Given the description of an element on the screen output the (x, y) to click on. 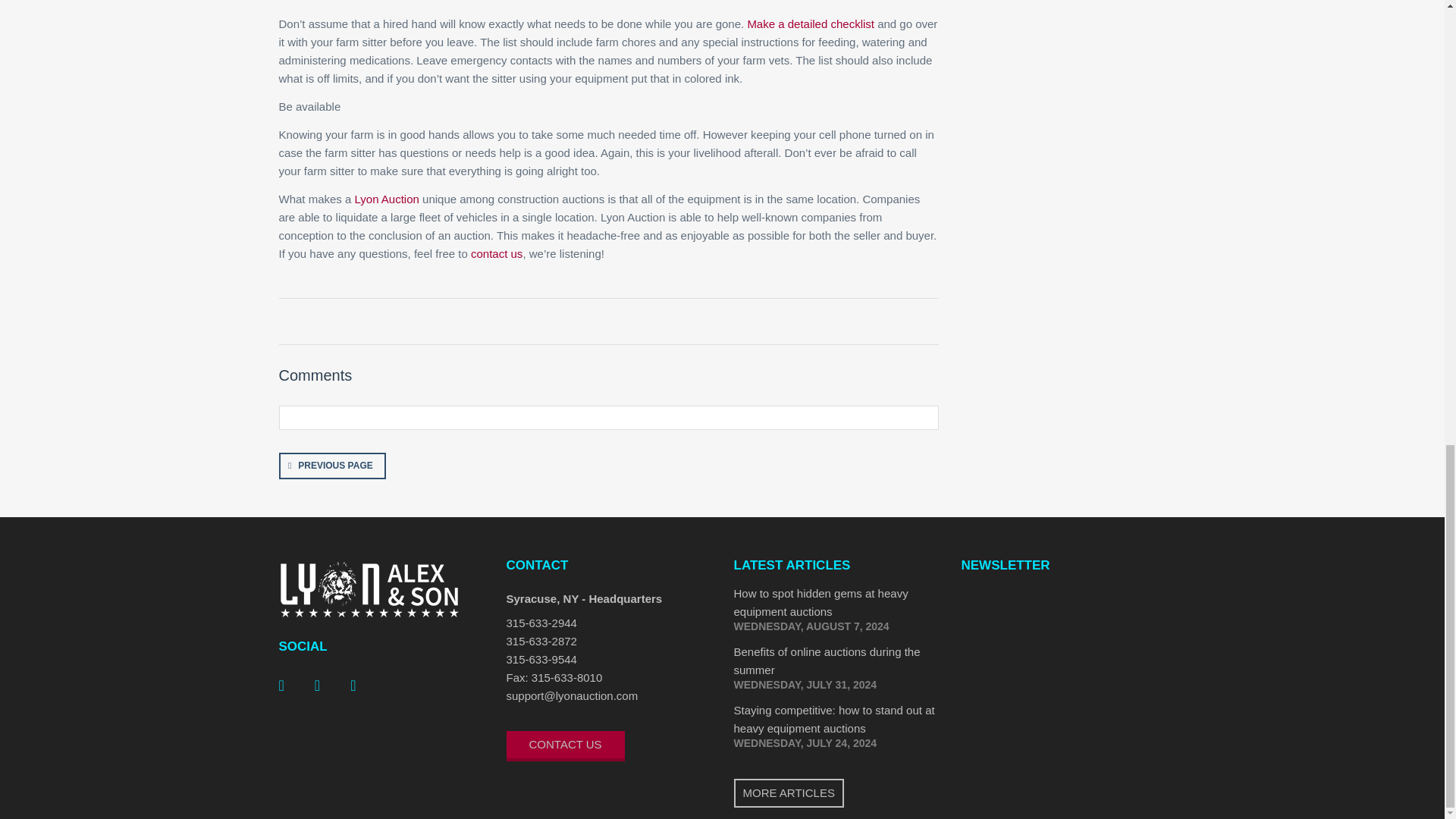
contact us (496, 253)
Lyon Auction (387, 198)
Make a detailed checklist (810, 23)
PREVIOUS PAGE (332, 465)
